Given the description of an element on the screen output the (x, y) to click on. 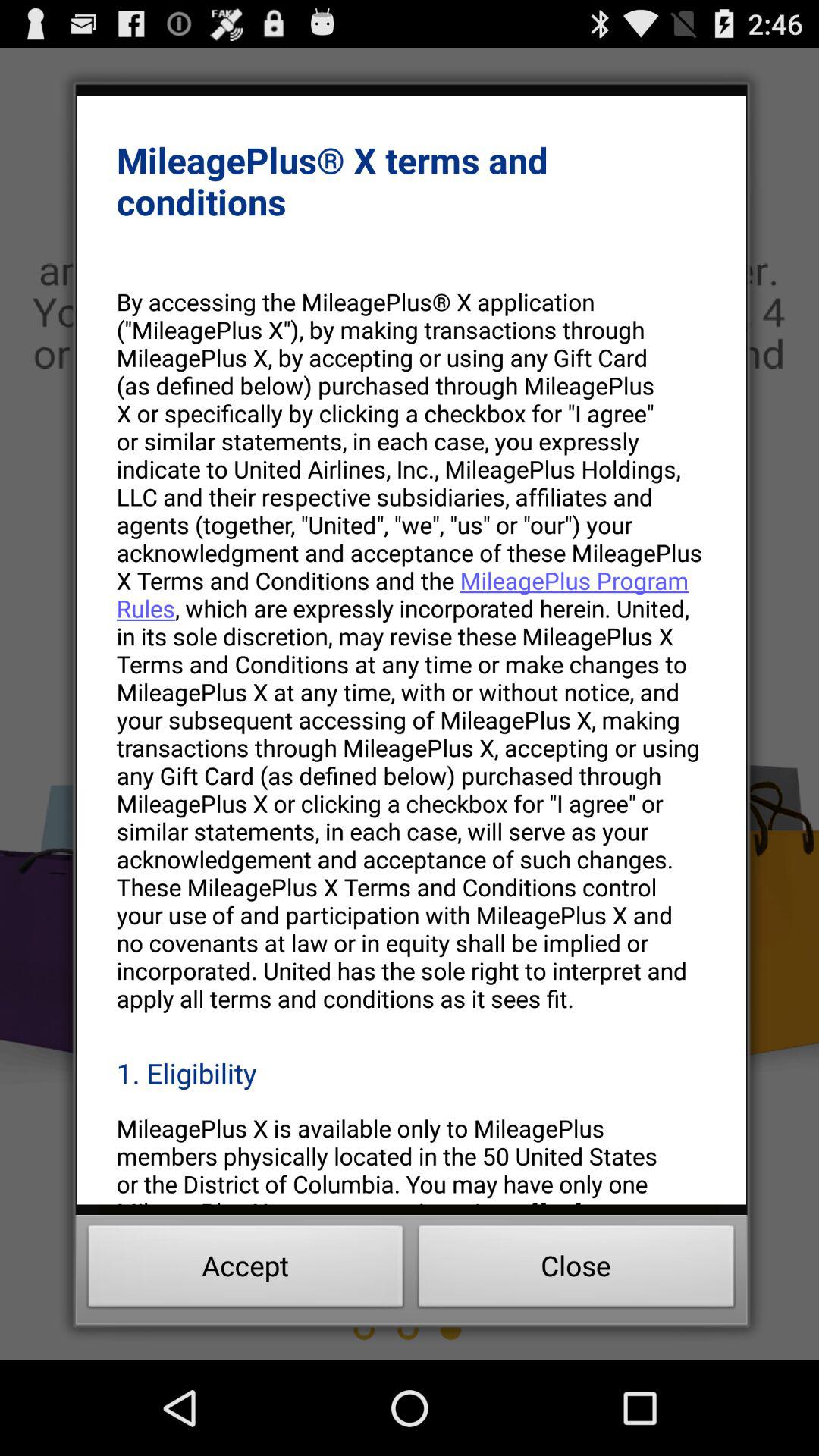
turn off the icon below mileageplus x is (576, 1270)
